Given the description of an element on the screen output the (x, y) to click on. 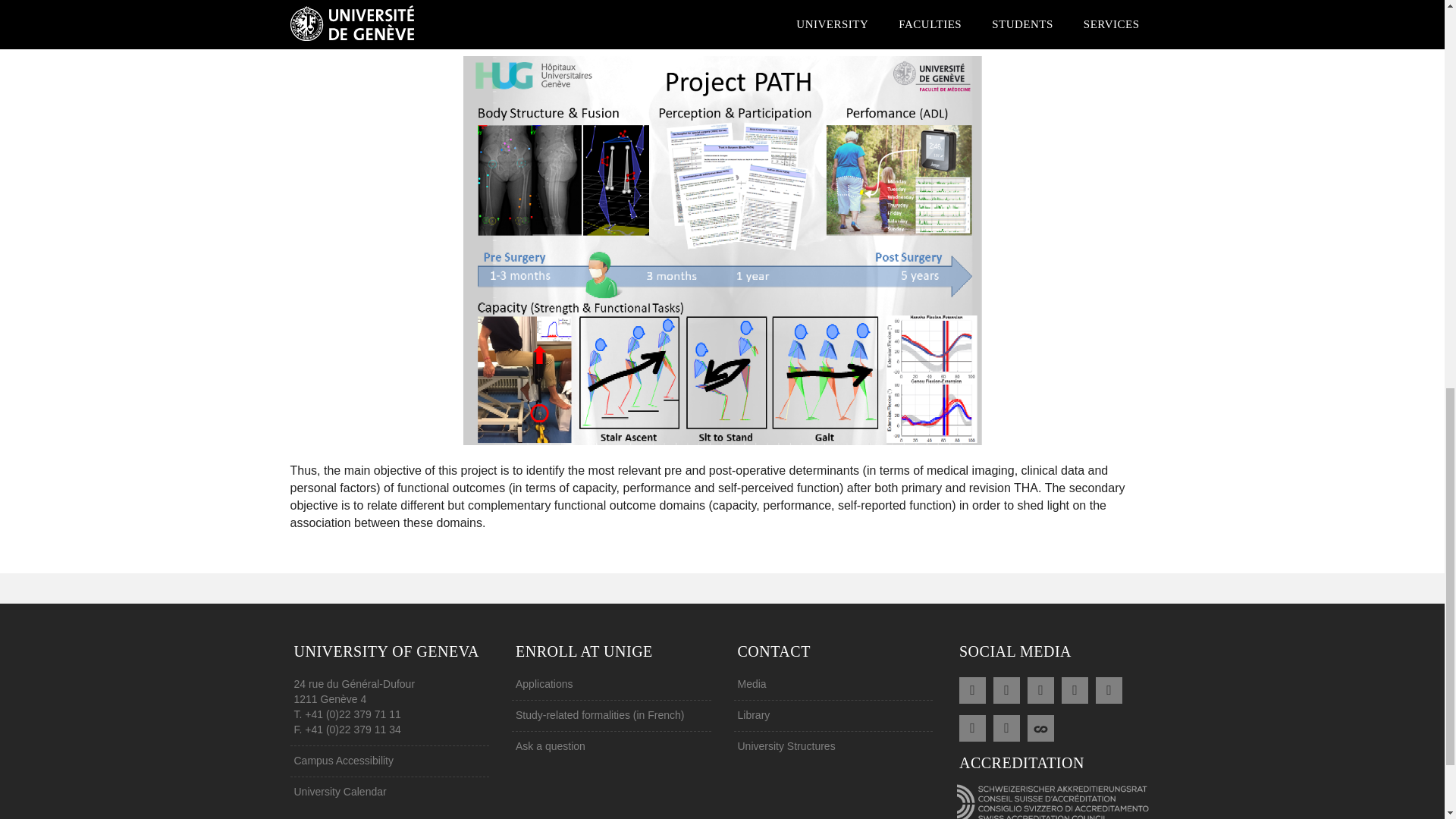
iTunesU (1006, 726)
Coursera (1040, 726)
LinkedIn (1075, 688)
Facebook (1006, 688)
Instagram (972, 726)
YouTube (1108, 688)
RSS (972, 688)
